Given the description of an element on the screen output the (x, y) to click on. 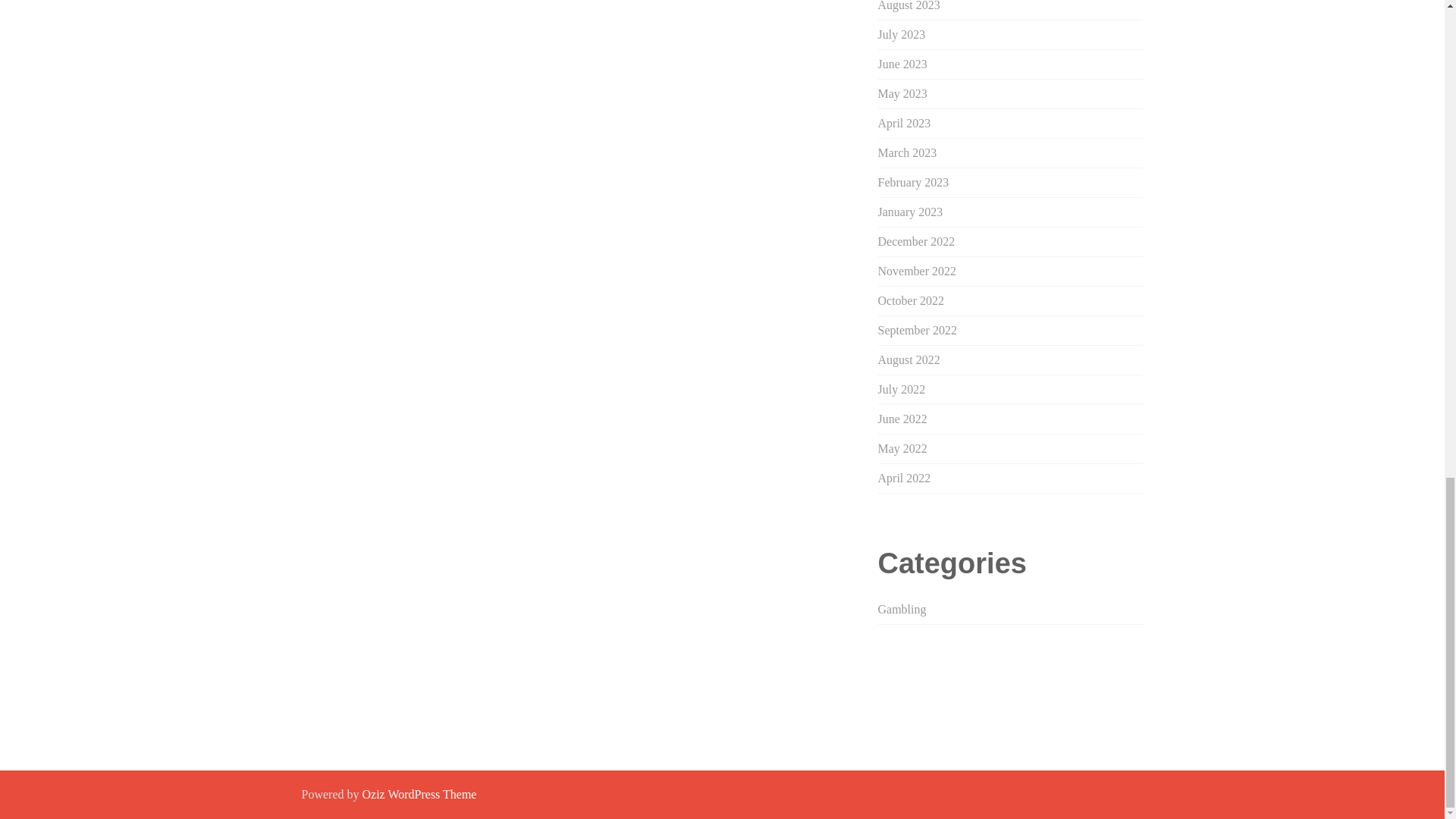
May 2023 (902, 92)
July 2022 (901, 389)
October 2022 (910, 300)
December 2022 (916, 241)
March 2023 (907, 152)
July 2023 (901, 33)
April 2023 (904, 123)
September 2022 (916, 329)
January 2023 (910, 211)
June 2023 (902, 63)
August 2023 (908, 5)
August 2022 (908, 359)
February 2023 (913, 182)
November 2022 (916, 270)
